Given the description of an element on the screen output the (x, y) to click on. 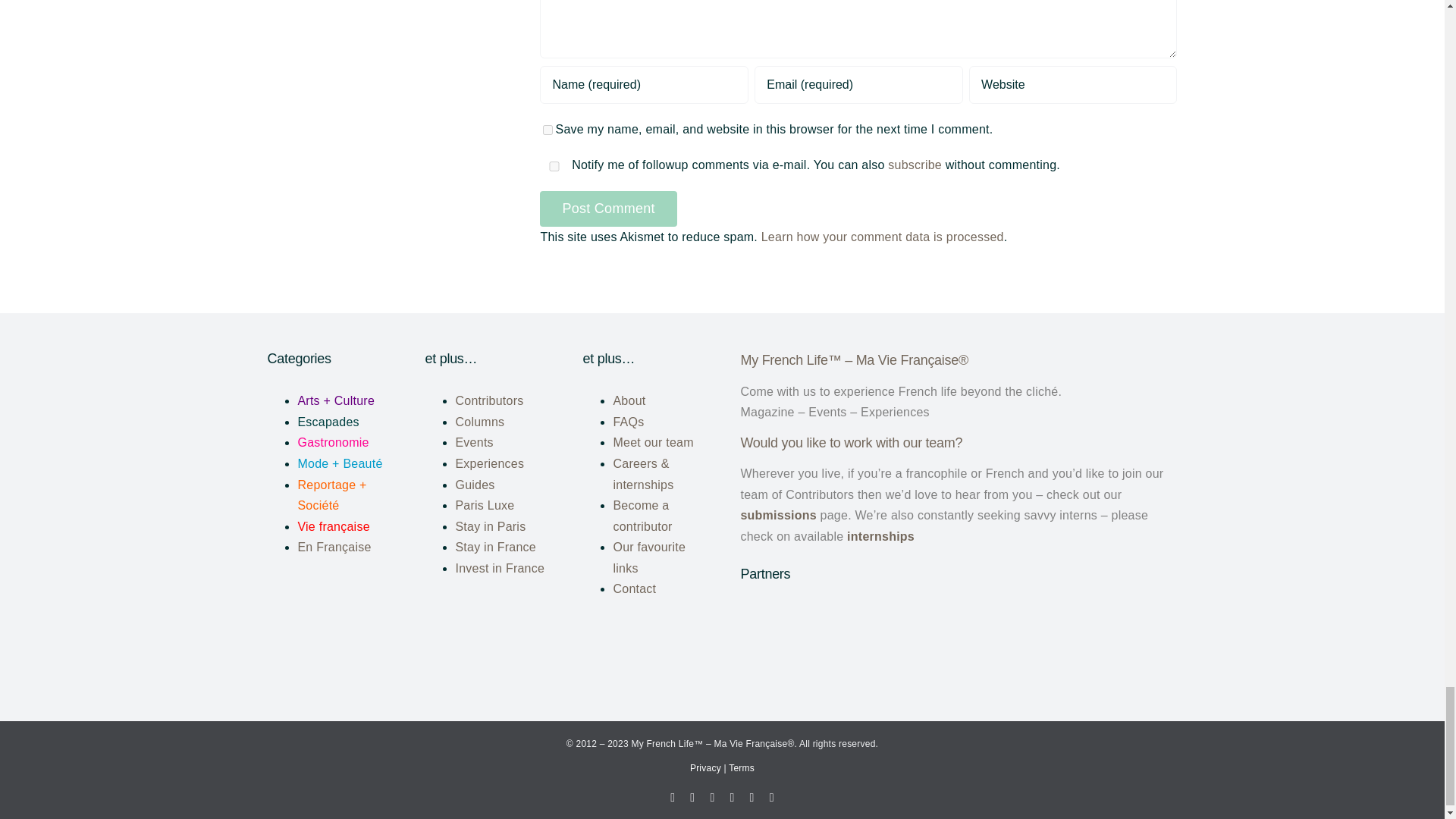
Post Comment (608, 208)
yes (554, 166)
yes (548, 130)
